Given the description of an element on the screen output the (x, y) to click on. 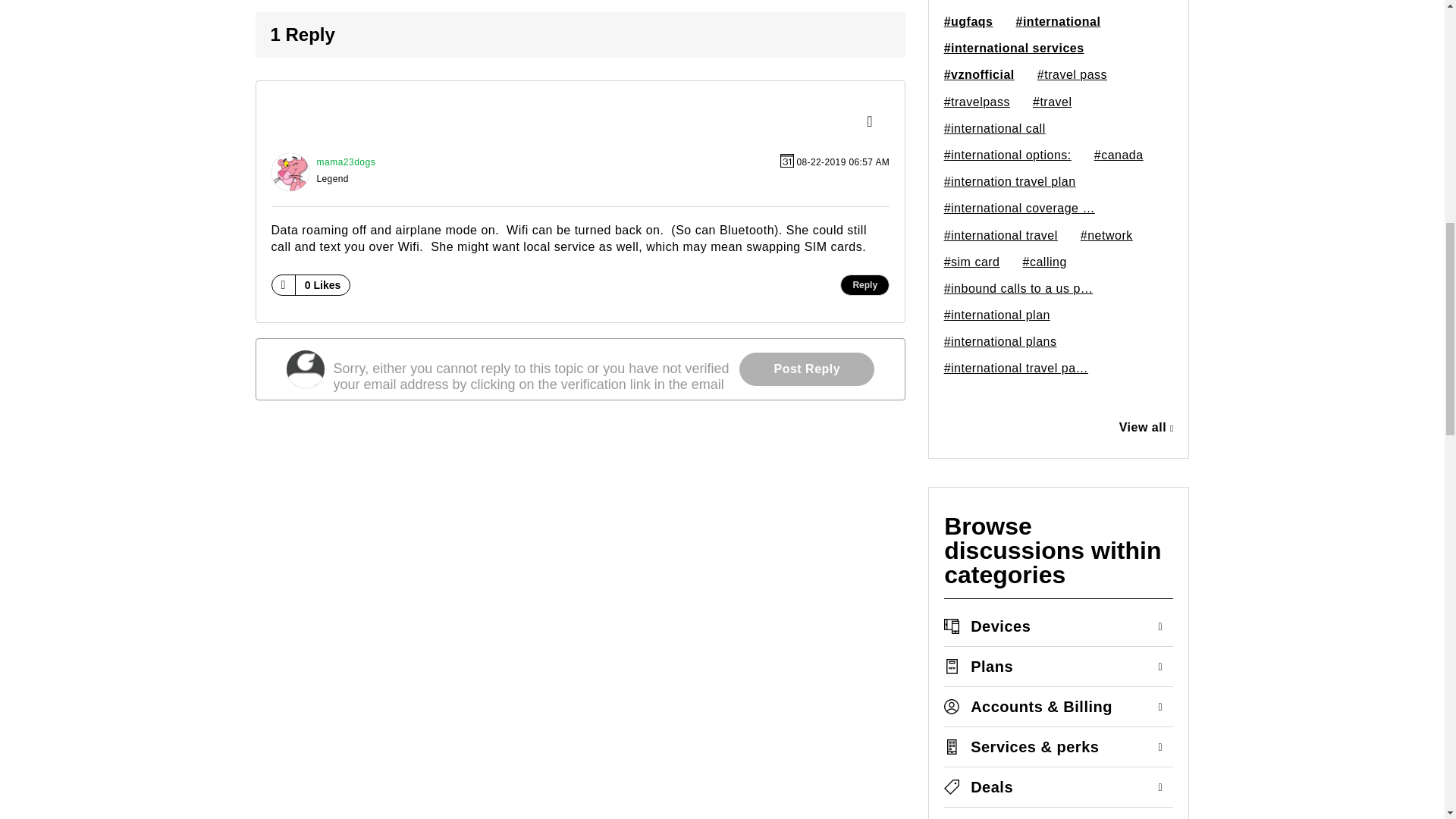
Show option menu (874, 123)
mama23dogs (289, 171)
